Given the description of an element on the screen output the (x, y) to click on. 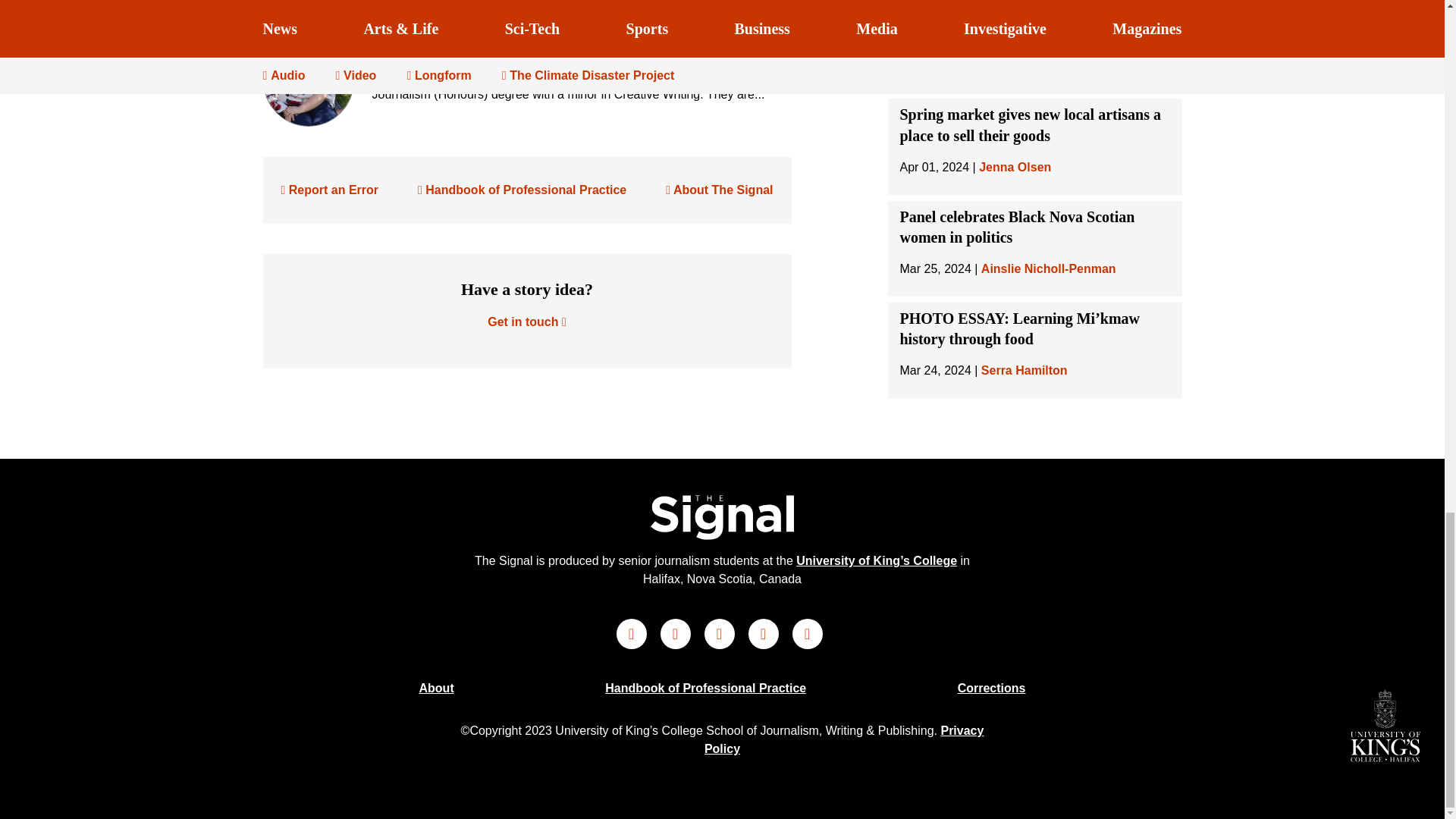
Alec Gallant (403, 44)
